Given the description of an element on the screen output the (x, y) to click on. 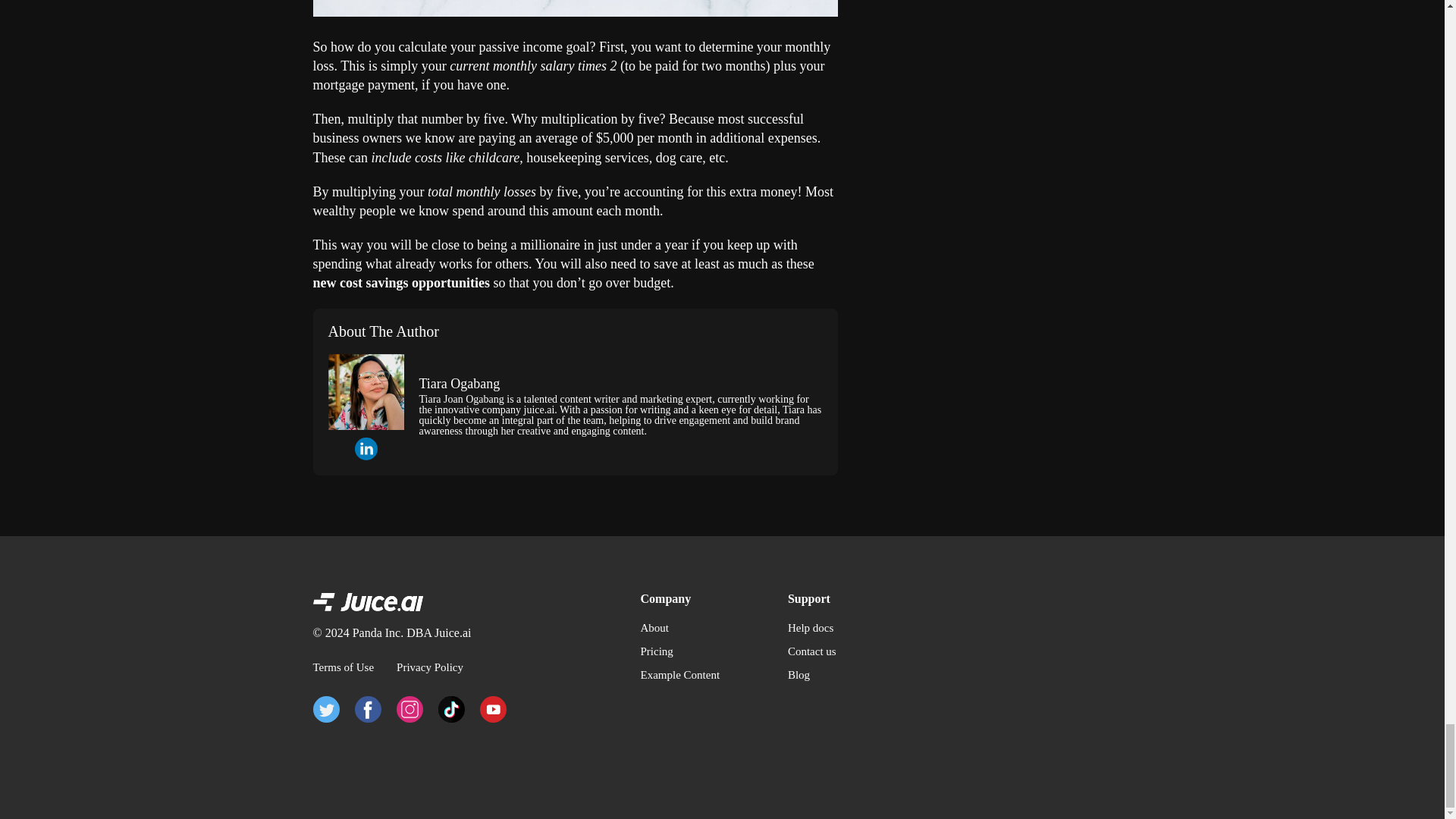
Tiara Ogabang (459, 383)
Terms of Use (343, 667)
Privacy Policy (429, 667)
